Given the description of an element on the screen output the (x, y) to click on. 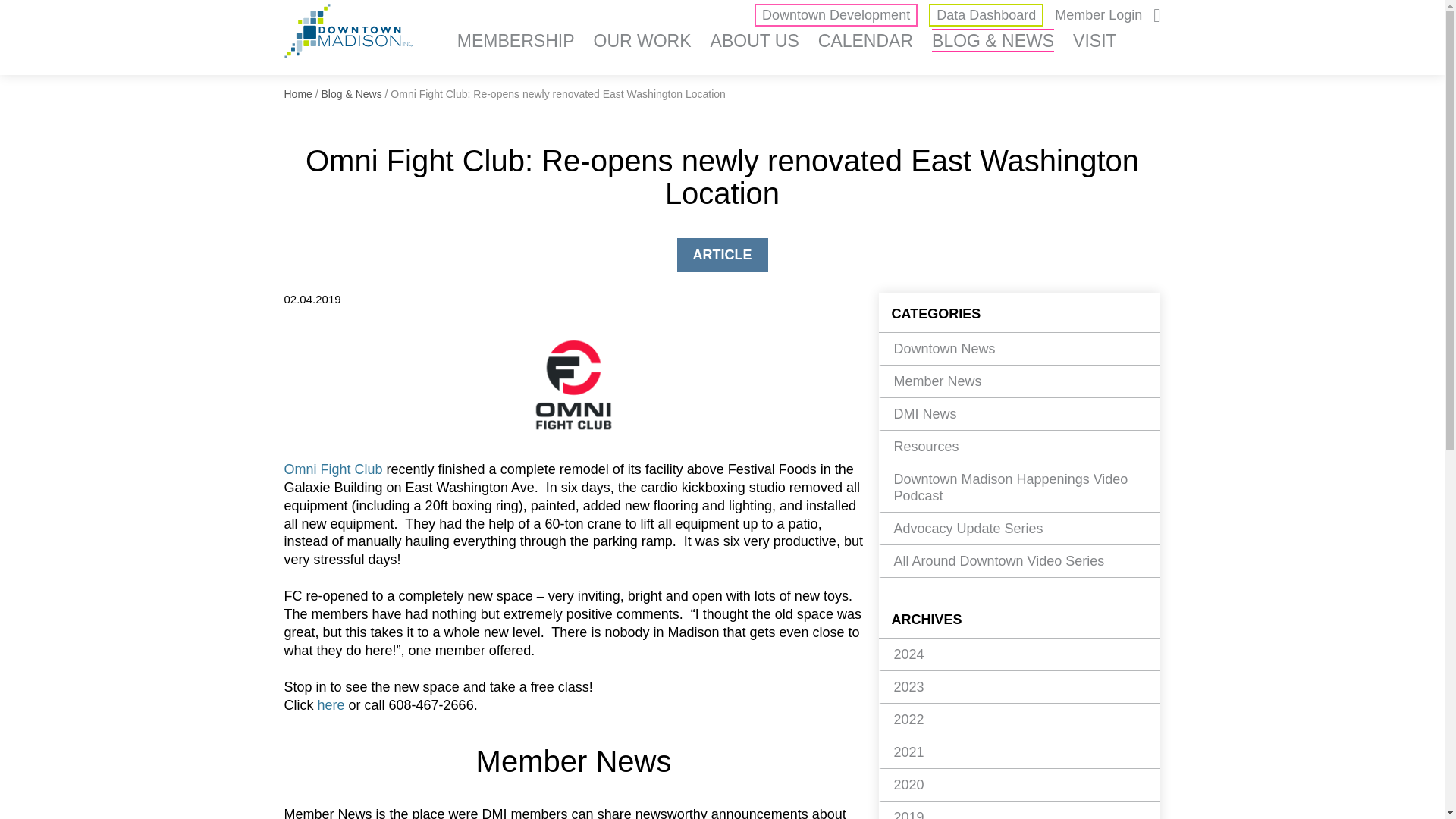
Member Login (1097, 15)
ABOUT US (754, 40)
CALENDAR (865, 40)
OUR WORK (642, 40)
VISIT (1094, 40)
Downtown Development (835, 15)
Data Dashboard (985, 15)
Go to Homepage (348, 34)
MEMBERSHIP (516, 40)
